Given the description of an element on the screen output the (x, y) to click on. 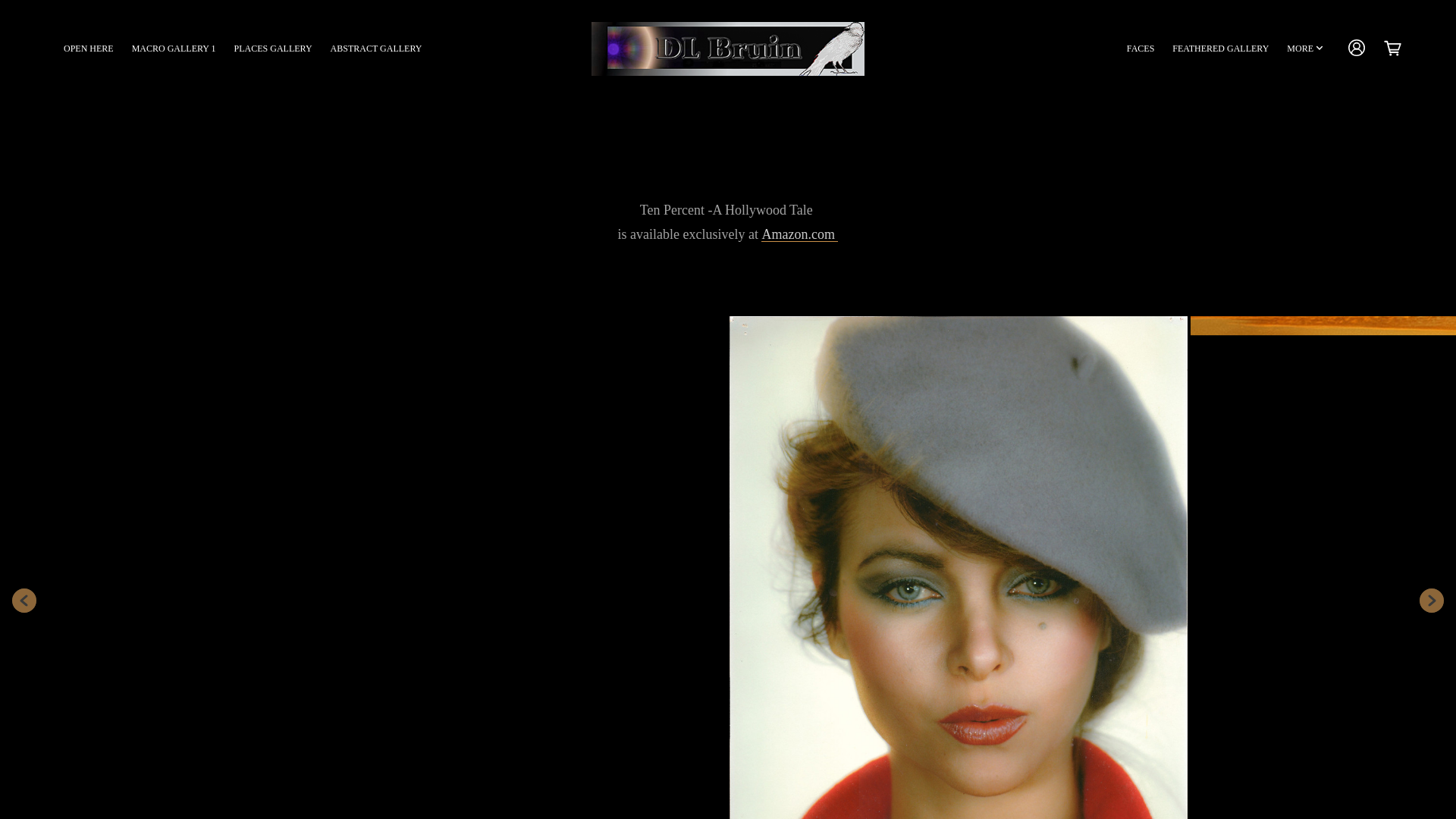
MACRO GALLERY 1 (173, 48)
OPEN HERE (88, 48)
PLACES GALLERY (273, 48)
FACES (1140, 48)
ABSTRACT GALLERY (376, 48)
Amazon.com  (799, 234)
MORE (1305, 48)
FEATHERED GALLERY (1220, 48)
